Given the description of an element on the screen output the (x, y) to click on. 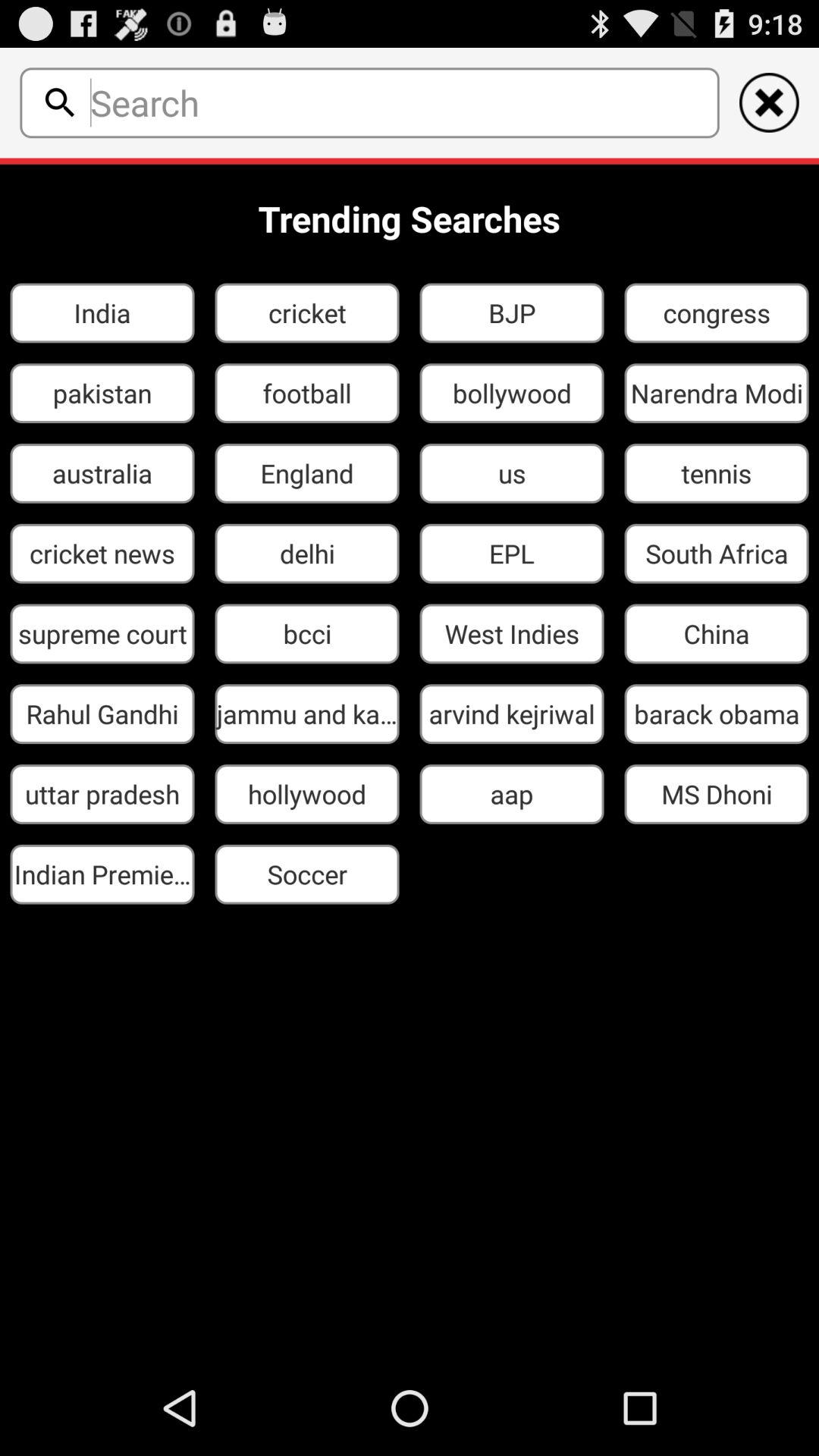
search window (399, 102)
